Given the description of an element on the screen output the (x, y) to click on. 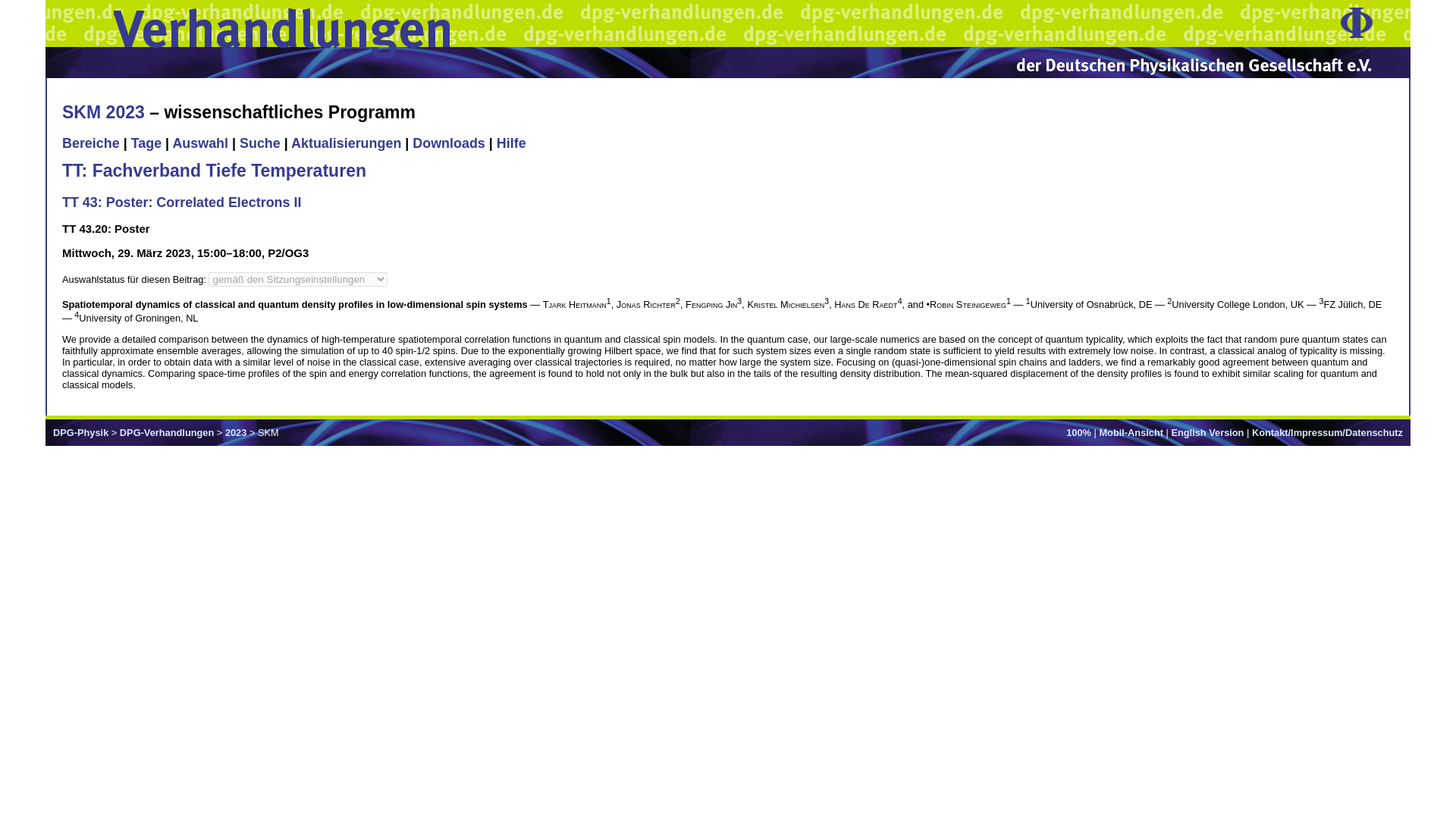
Downloads (448, 142)
Auswahl (199, 142)
TT: Fachverband Tiefe Temperaturen (214, 170)
Bereiche (90, 142)
2023 (235, 432)
SKM 2023 (103, 112)
Aktualisierungen (346, 142)
DPG-Verhandlungen (166, 432)
English Version (1206, 432)
Mobil-Ansicht (1131, 432)
Hilfe (510, 142)
DPG-Physik (79, 432)
Tage (146, 142)
TT 43: Poster: Correlated Electrons II (181, 201)
Suche (260, 142)
